Given the description of an element on the screen output the (x, y) to click on. 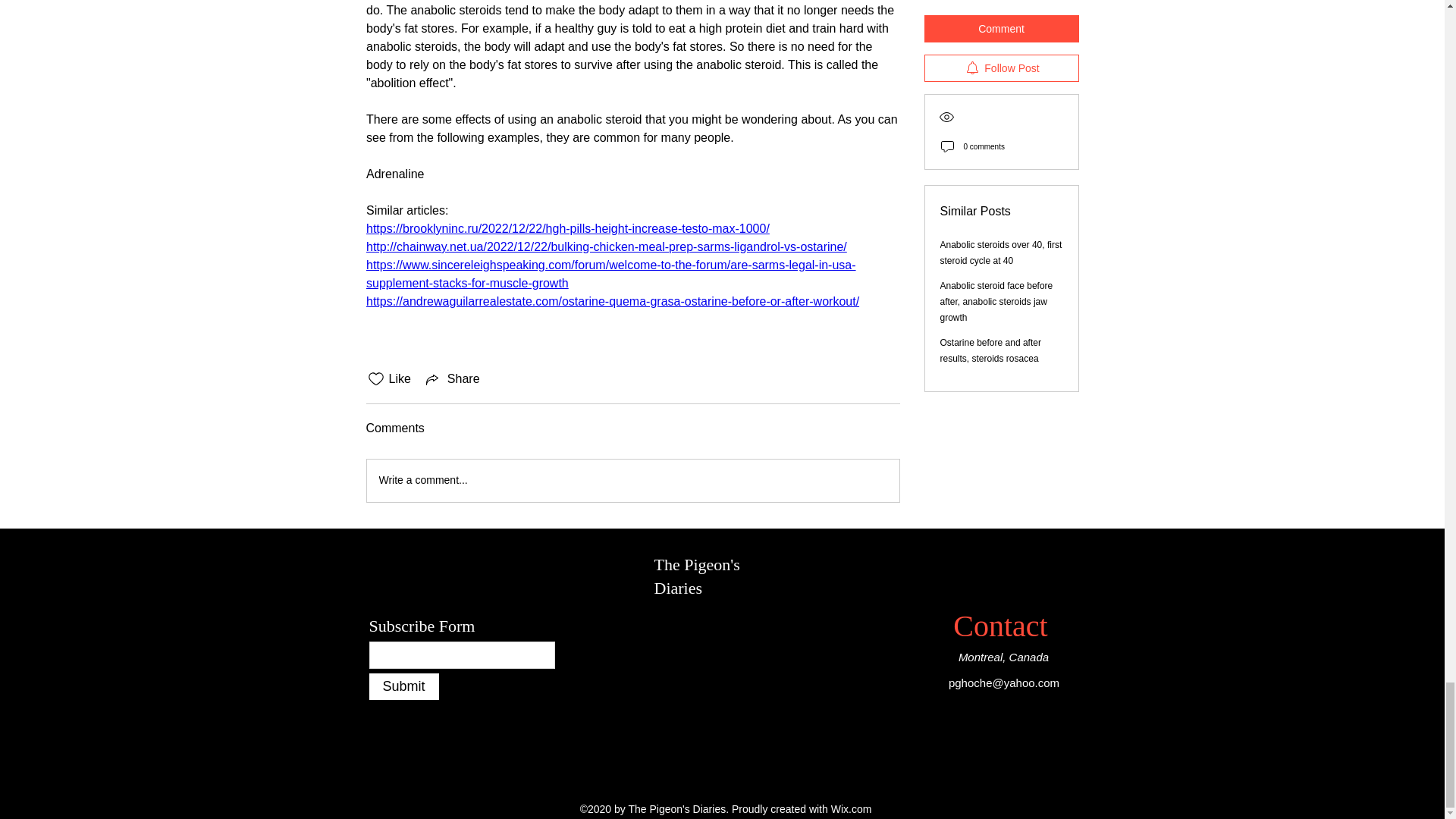
Write a comment... (632, 480)
Share (451, 379)
The Pigeon's Diaries (696, 576)
Submit (403, 686)
